Given the description of an element on the screen output the (x, y) to click on. 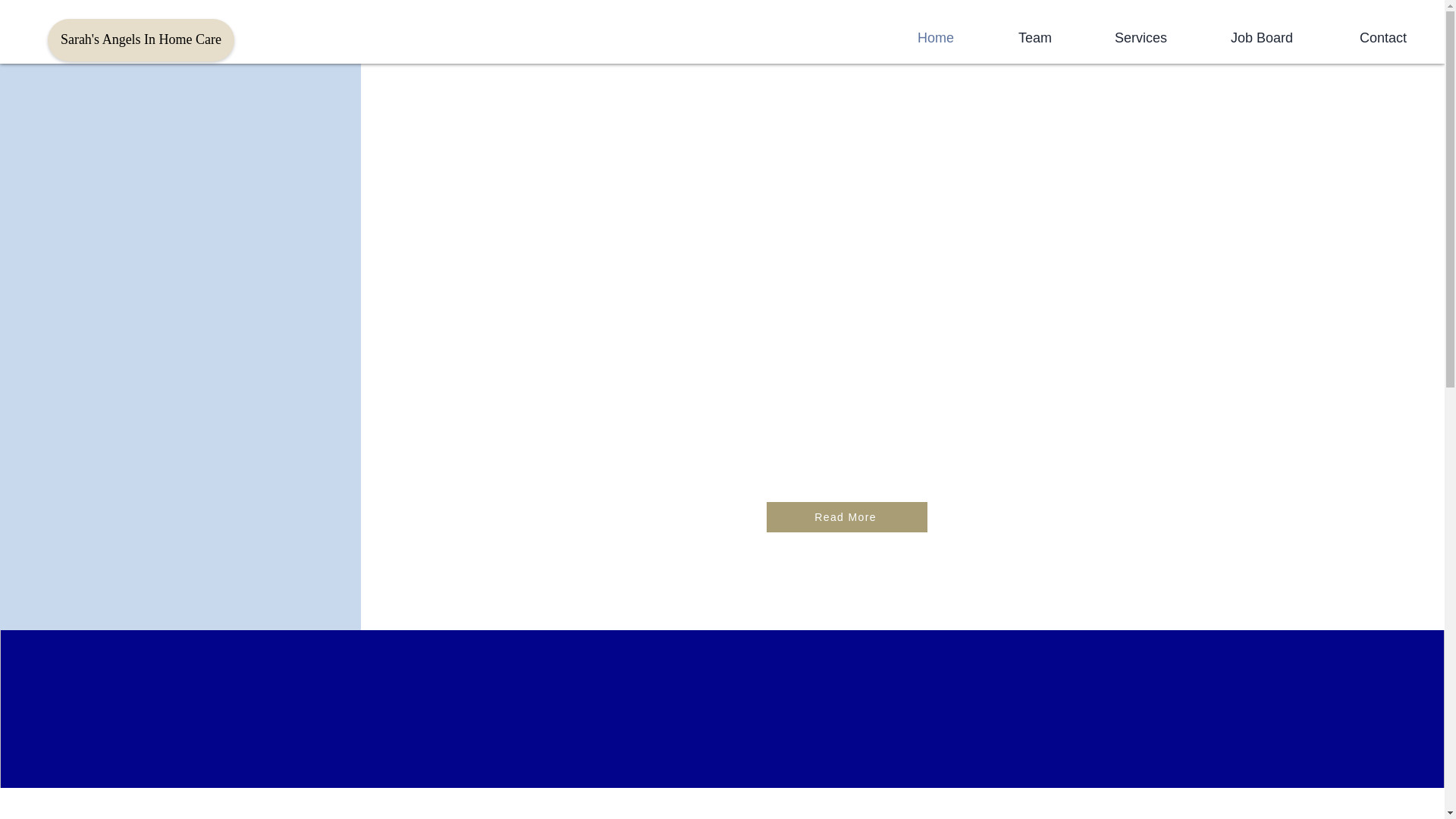
Read More (847, 517)
Services (1116, 37)
Job Board (1237, 37)
Team (1009, 37)
Home (909, 37)
Sarah's Angels In Home Care (141, 39)
Contact (1356, 37)
